Given the description of an element on the screen output the (x, y) to click on. 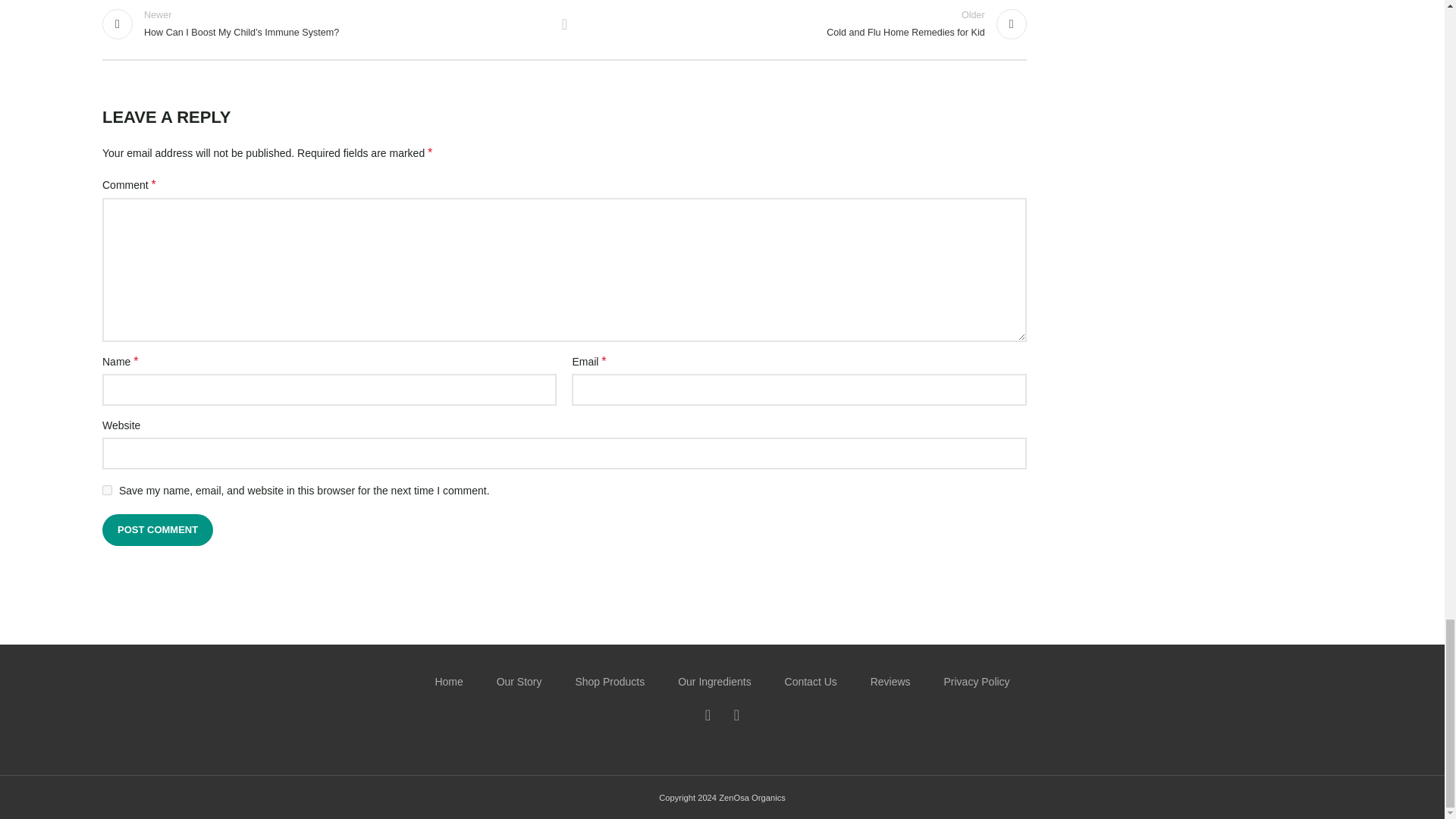
Post Comment (802, 29)
Back to list (156, 530)
Post Comment (564, 24)
yes (156, 530)
